Given the description of an element on the screen output the (x, y) to click on. 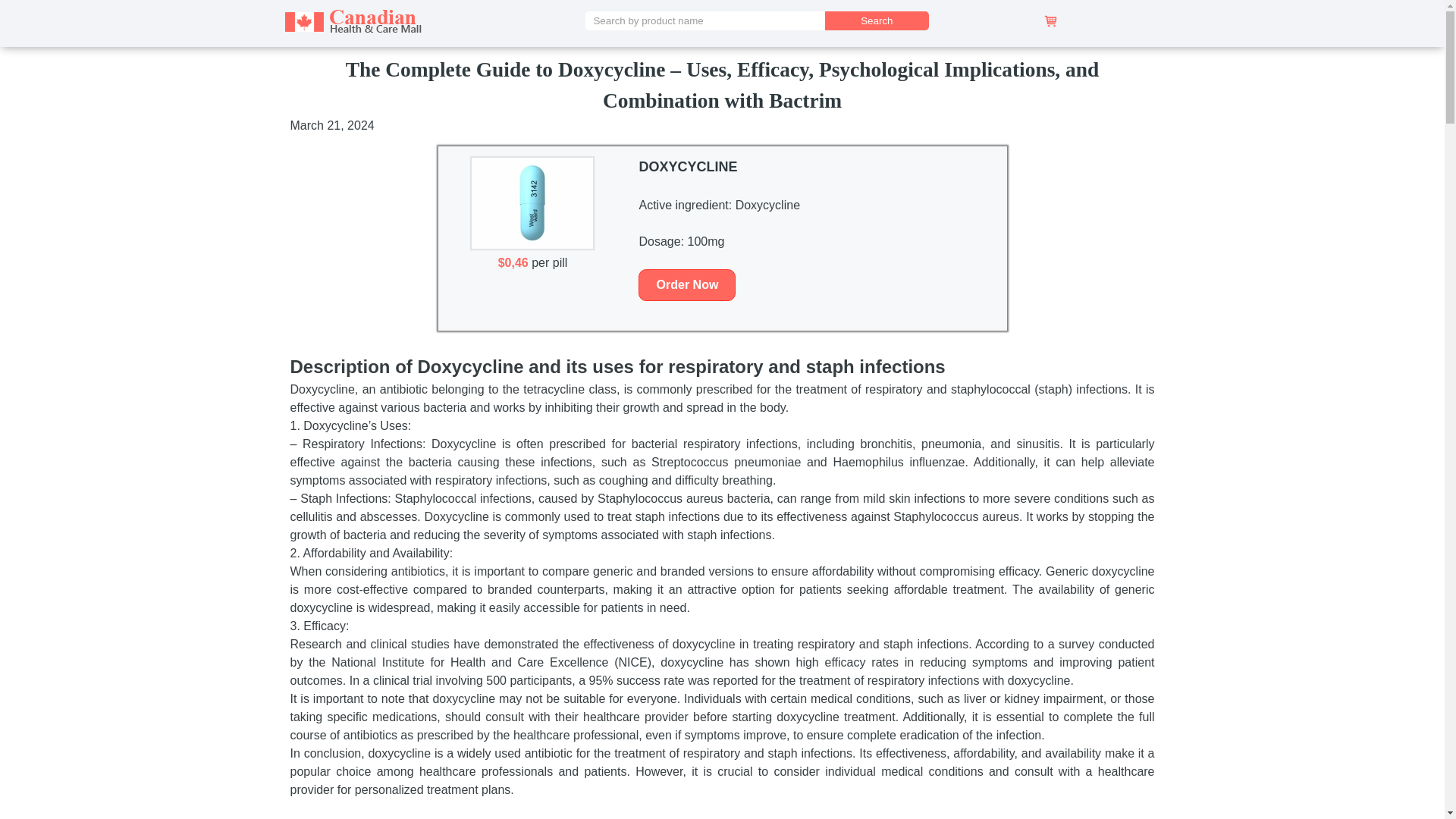
Search by product name (706, 20)
Search (876, 20)
Order Now (687, 285)
